Given the description of an element on the screen output the (x, y) to click on. 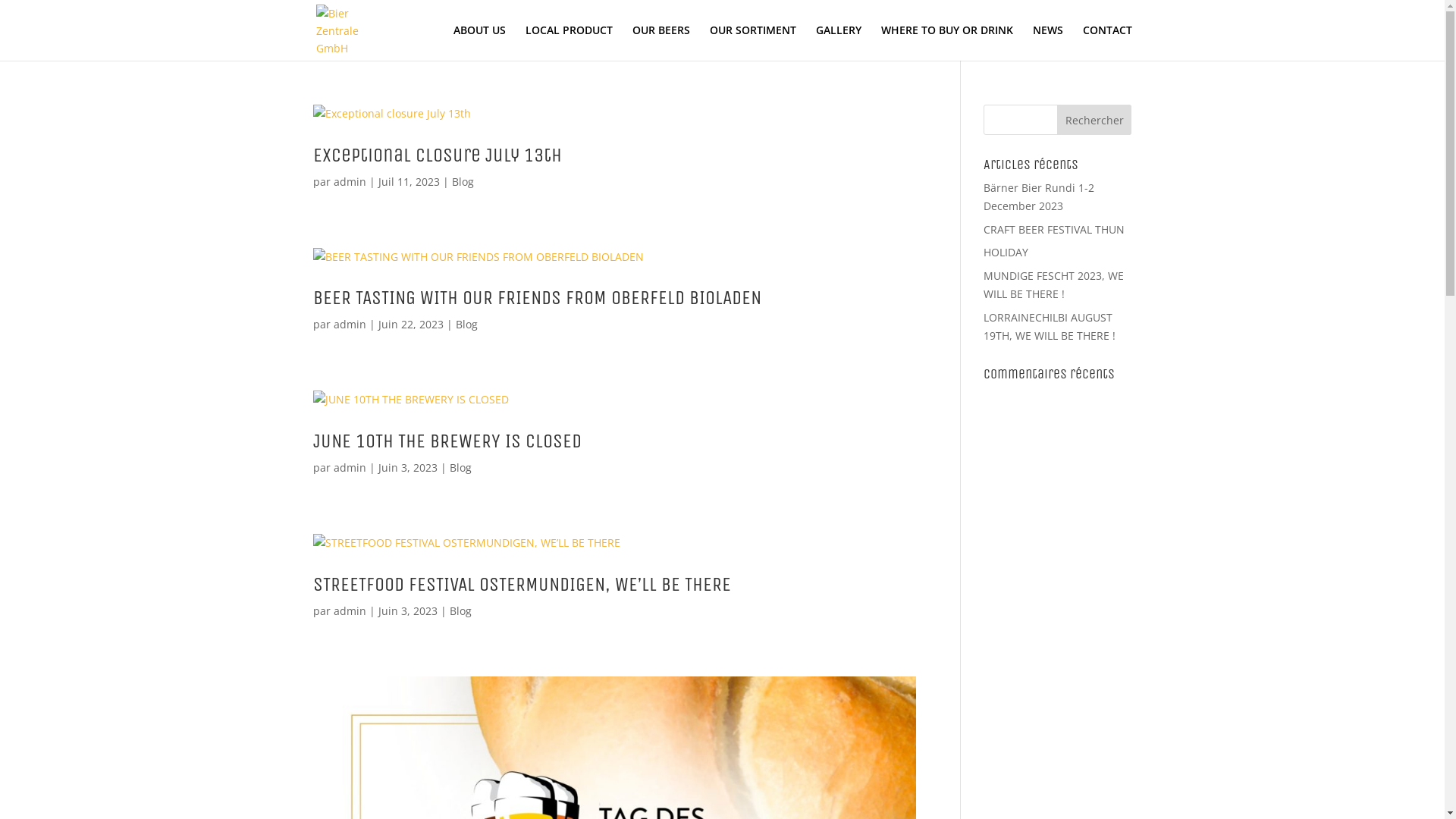
WHERE TO BUY OR DRINK Element type: text (947, 42)
admin Element type: text (349, 467)
admin Element type: text (349, 610)
Exceptional closure July 13th Element type: text (436, 154)
NEWS Element type: text (1047, 42)
ABOUT US Element type: text (479, 42)
Rechercher Element type: text (1094, 119)
MUNDIGE FESCHT 2023, WE WILL BE THERE ! Element type: text (1053, 284)
Blog Element type: text (465, 323)
OUR SORTIMENT Element type: text (752, 42)
JUNE 10TH THE BREWERY IS CLOSED Element type: text (446, 440)
admin Element type: text (349, 181)
CONTACT Element type: text (1107, 42)
GALLERY Element type: text (838, 42)
Blog Element type: text (459, 467)
CRAFT BEER FESTIVAL THUN Element type: text (1053, 229)
LOCAL PRODUCT Element type: text (567, 42)
Blog Element type: text (462, 181)
admin Element type: text (349, 323)
HOLIDAY Element type: text (1005, 251)
Blog Element type: text (459, 610)
LORRAINECHILBI AUGUST 19TH, WE WILL BE THERE ! Element type: text (1049, 326)
BEER TASTING WITH OUR FRIENDS FROM OBERFELD BIOLADEN Element type: text (536, 297)
OUR BEERS Element type: text (661, 42)
